Given the description of an element on the screen output the (x, y) to click on. 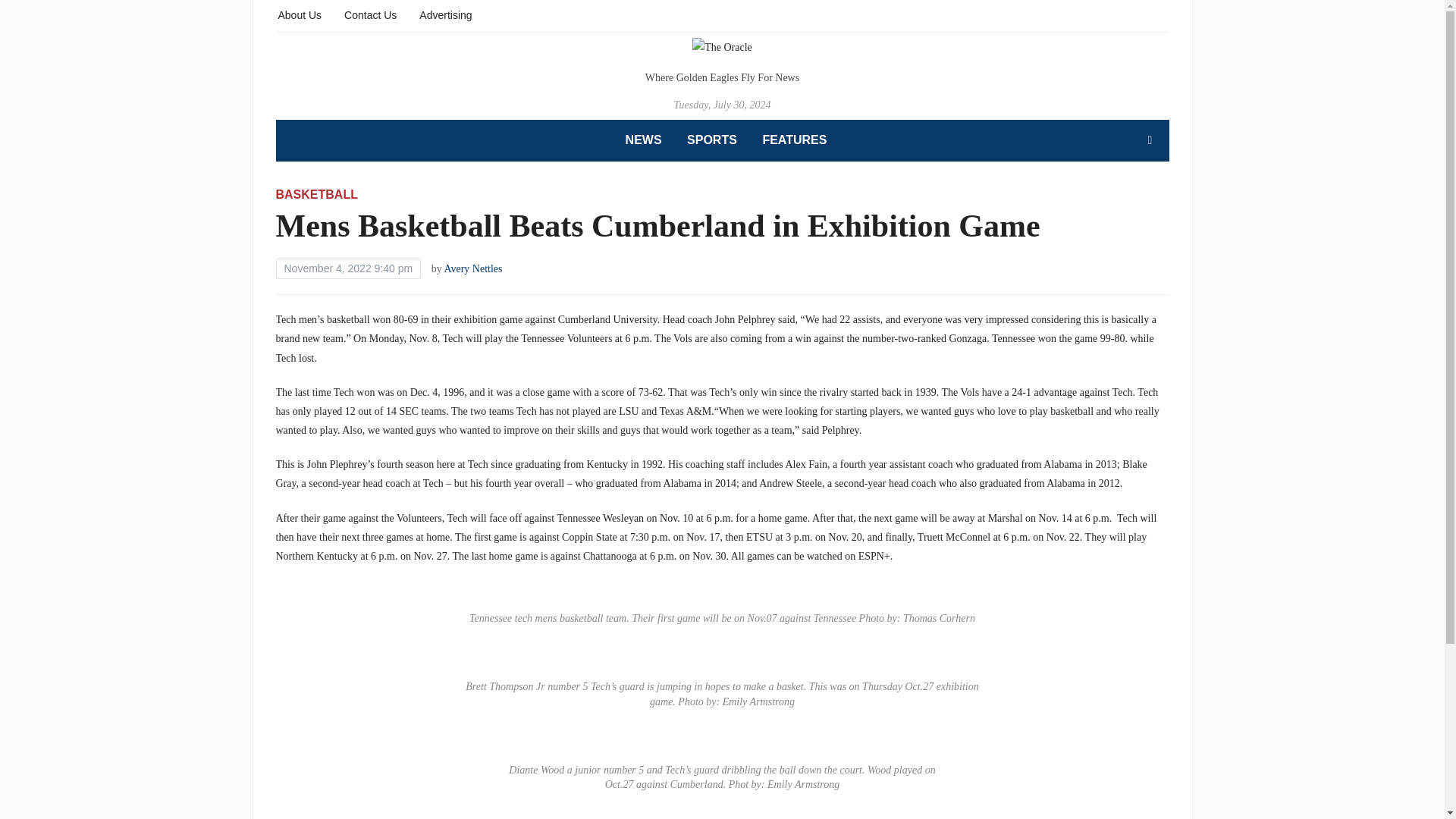
NEWS (644, 140)
About Us (299, 14)
FEATURES (794, 140)
SPORTS (711, 140)
Search (1149, 140)
BASKETBALL (317, 194)
Contact Us (369, 14)
Advertising (445, 14)
Avery Nettles (473, 268)
